Given the description of an element on the screen output the (x, y) to click on. 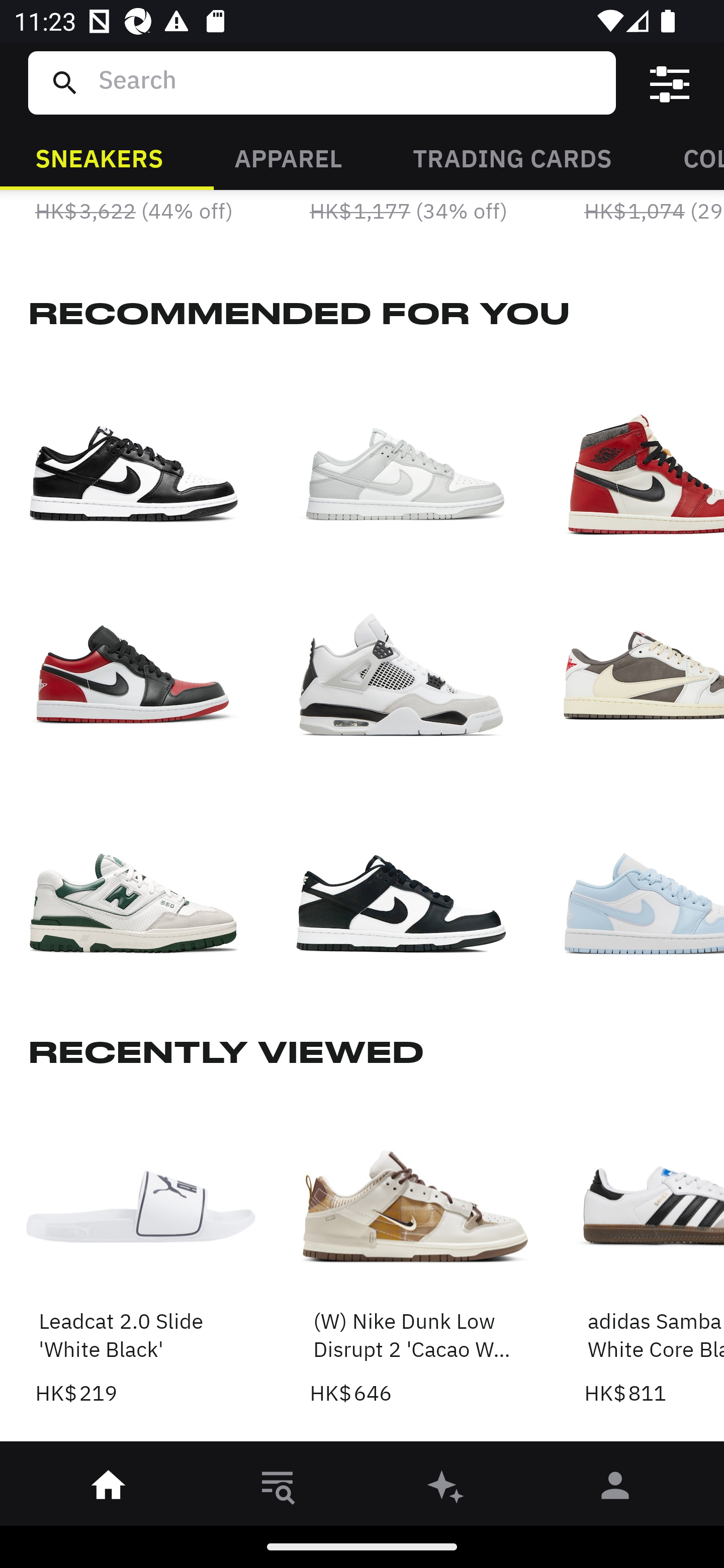
Search (349, 82)
 (669, 82)
SNEAKERS (99, 156)
APPAREL (287, 156)
TRADING CARDS (512, 156)
Leadcat 2.0 Slide 'White Black' HK$ 219 (140, 1250)
adidas Samba 'Cloud White Core Black' HK$ 811 (654, 1250)
󰋜 (108, 1488)
󱎸 (277, 1488)
󰫢 (446, 1488)
󰀄 (615, 1488)
